Given the description of an element on the screen output the (x, y) to click on. 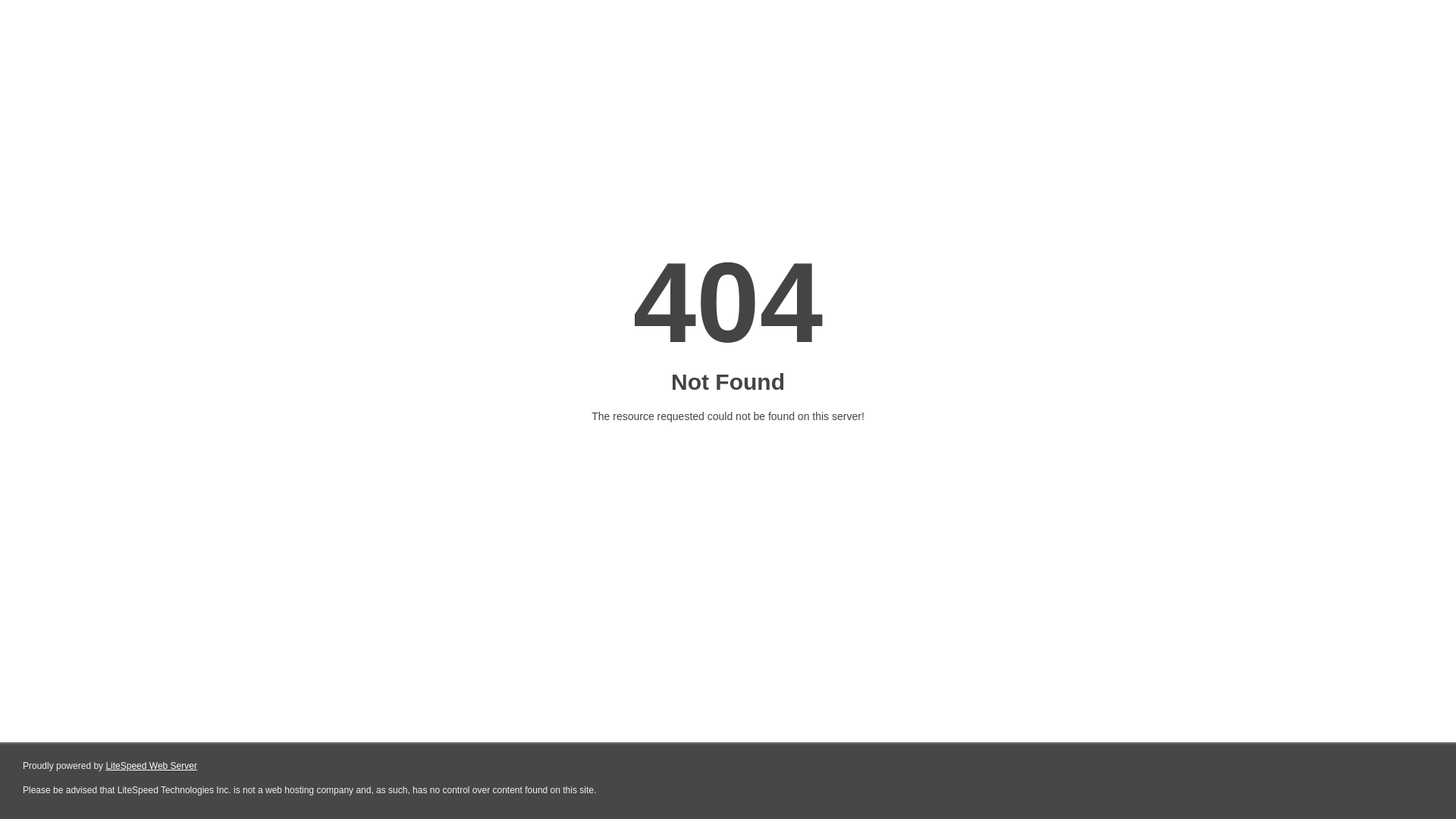
LiteSpeed Web Server Element type: text (151, 765)
